Given the description of an element on the screen output the (x, y) to click on. 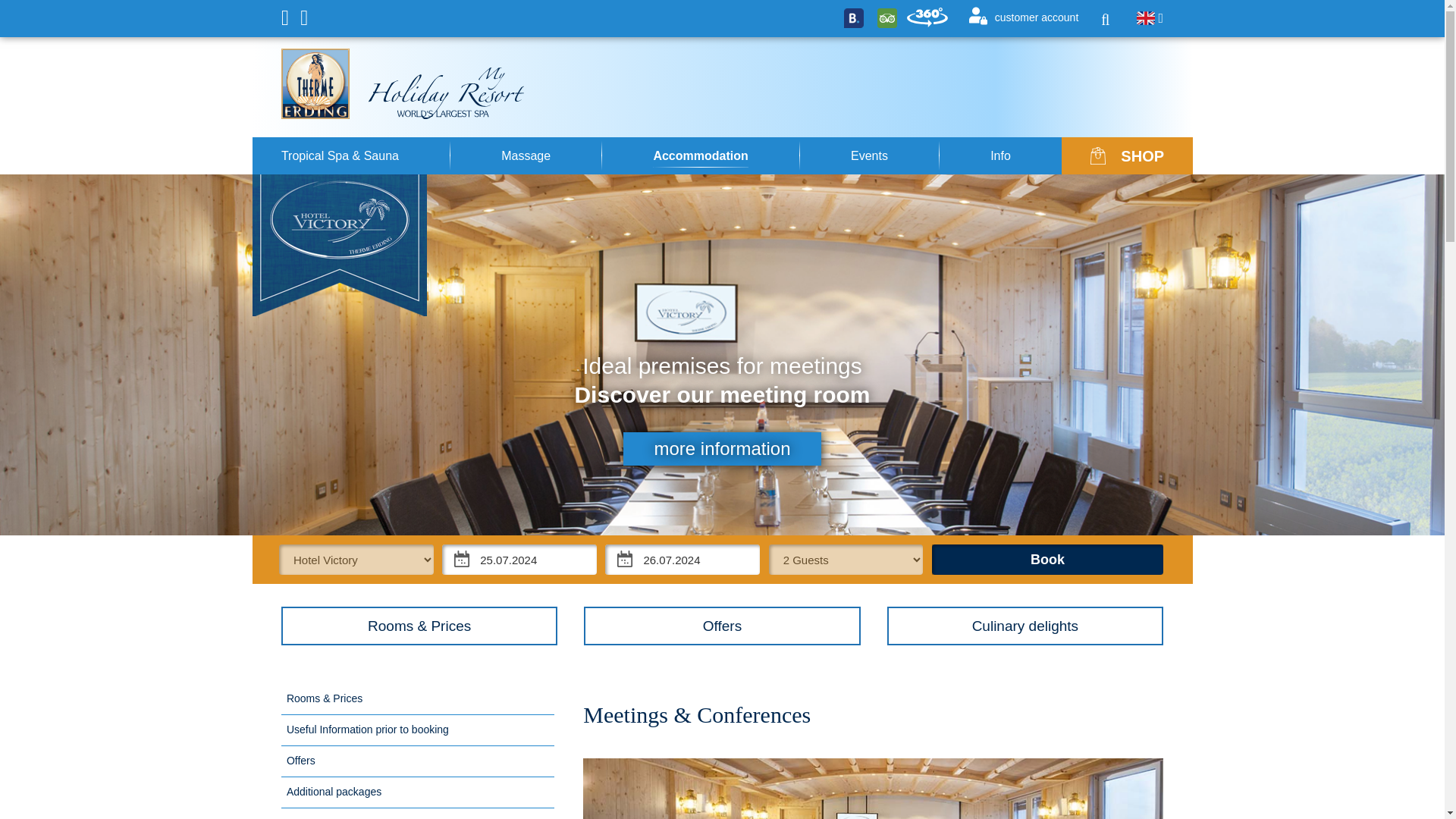
26.07.2024 (681, 559)
Accommodation (700, 155)
booking.com (853, 17)
Info (1000, 155)
Events (869, 155)
Therme Erding (315, 83)
Book (1047, 559)
Massage (525, 155)
Massage (525, 155)
My holiday resort (446, 93)
Accommodation (700, 155)
25.07.2024 (518, 559)
